Given the description of an element on the screen output the (x, y) to click on. 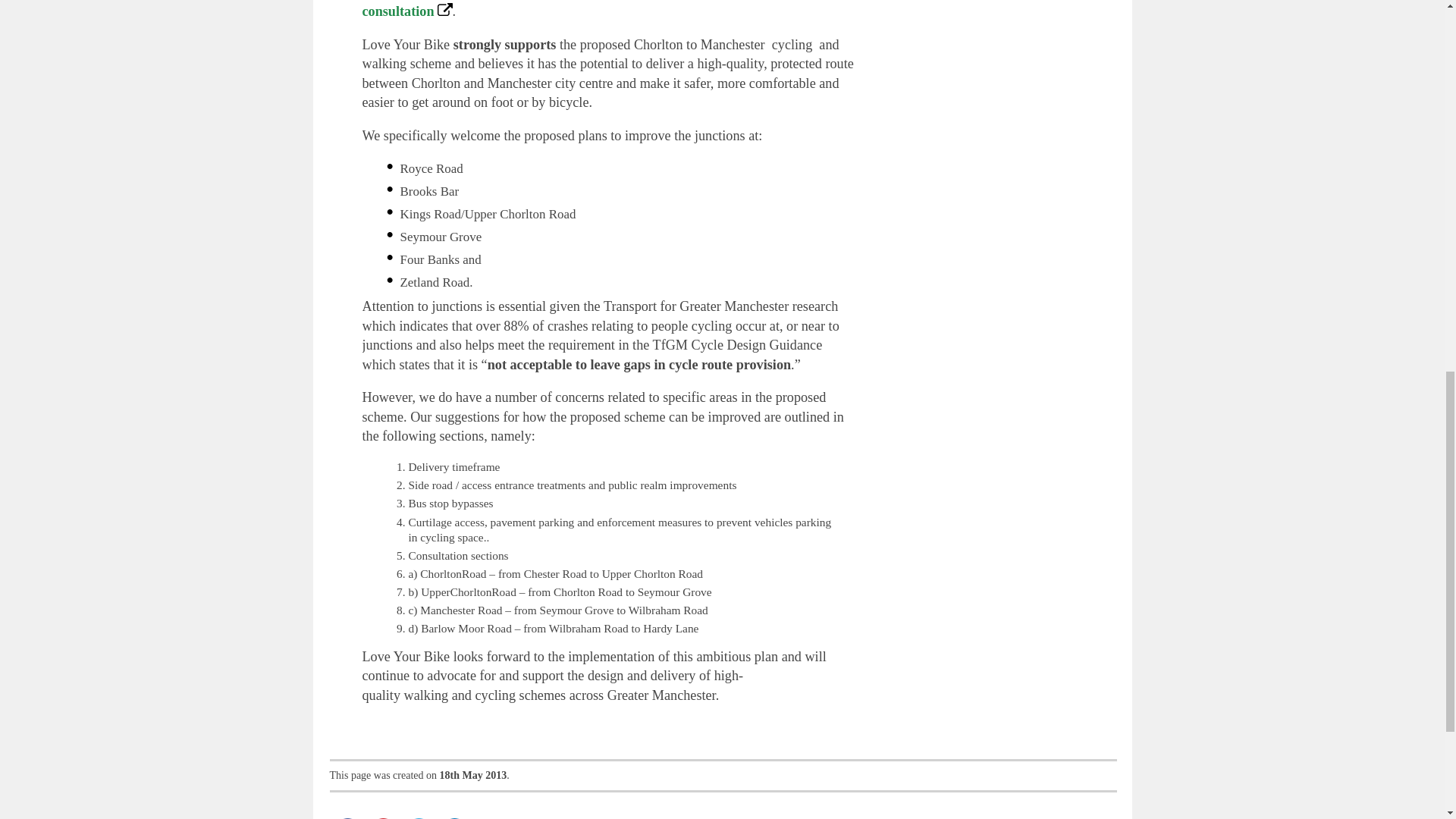
pinterest (383, 816)
linkedin (453, 816)
facebook (347, 816)
twitter (417, 816)
